Given the description of an element on the screen output the (x, y) to click on. 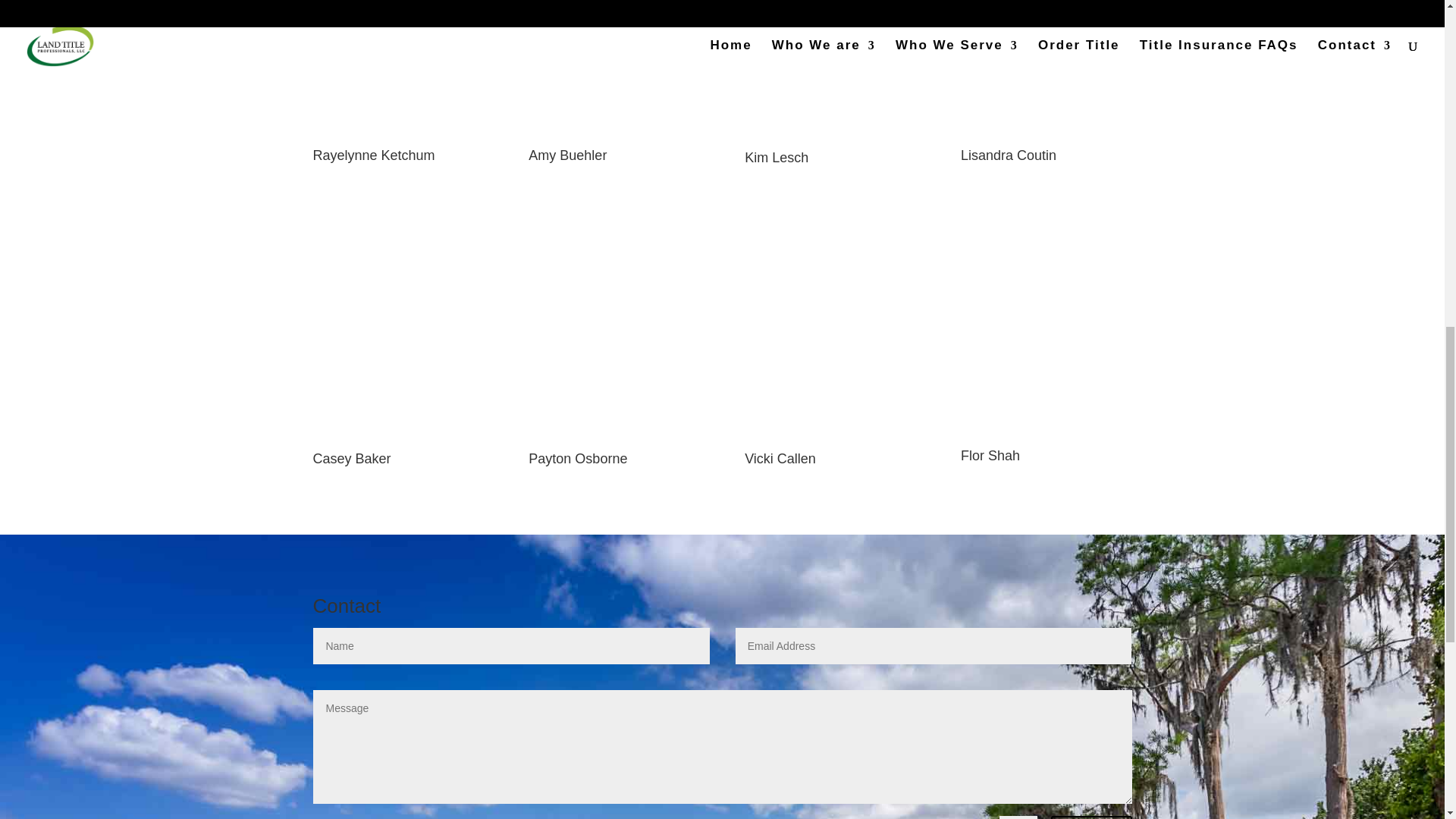
Lisandra Coutin (1008, 155)
Kim Lesch (776, 157)
Amy Buehler (567, 155)
Payton Osborne (577, 458)
Vicki Callen (779, 458)
Casey Baker (351, 458)
Rayelynne Ketchum (373, 155)
Flor Shah (990, 455)
Submit (1091, 817)
